Given the description of an element on the screen output the (x, y) to click on. 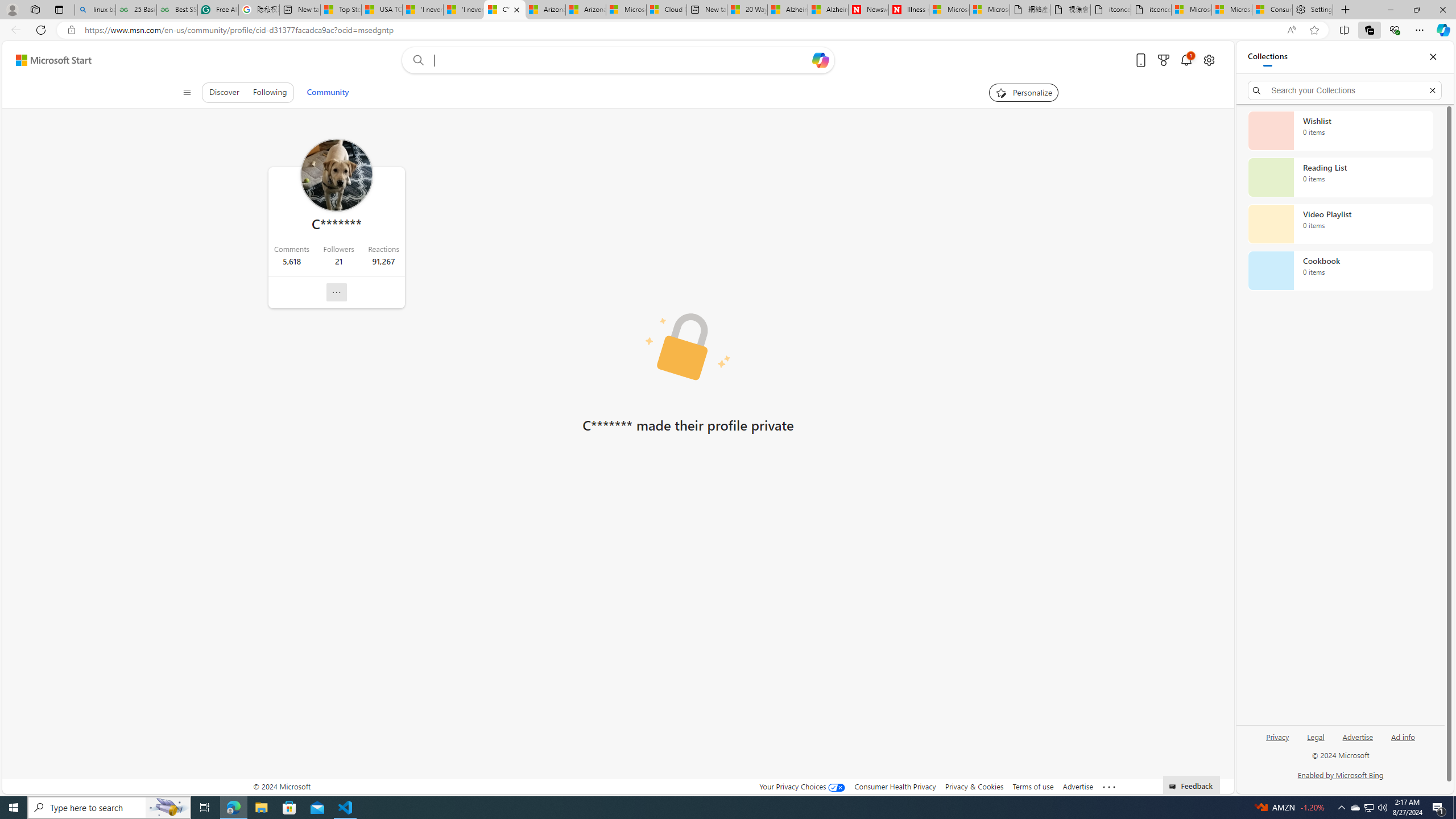
Video Playlist collection, 0 items (1339, 223)
Cookbook collection, 0 items (1339, 270)
Class: oneFooter_seeMore-DS-EntryPoint1-1 (1108, 786)
20 Ways to Boost Your Protein Intake at Every Meal (746, 9)
